Given the description of an element on the screen output the (x, y) to click on. 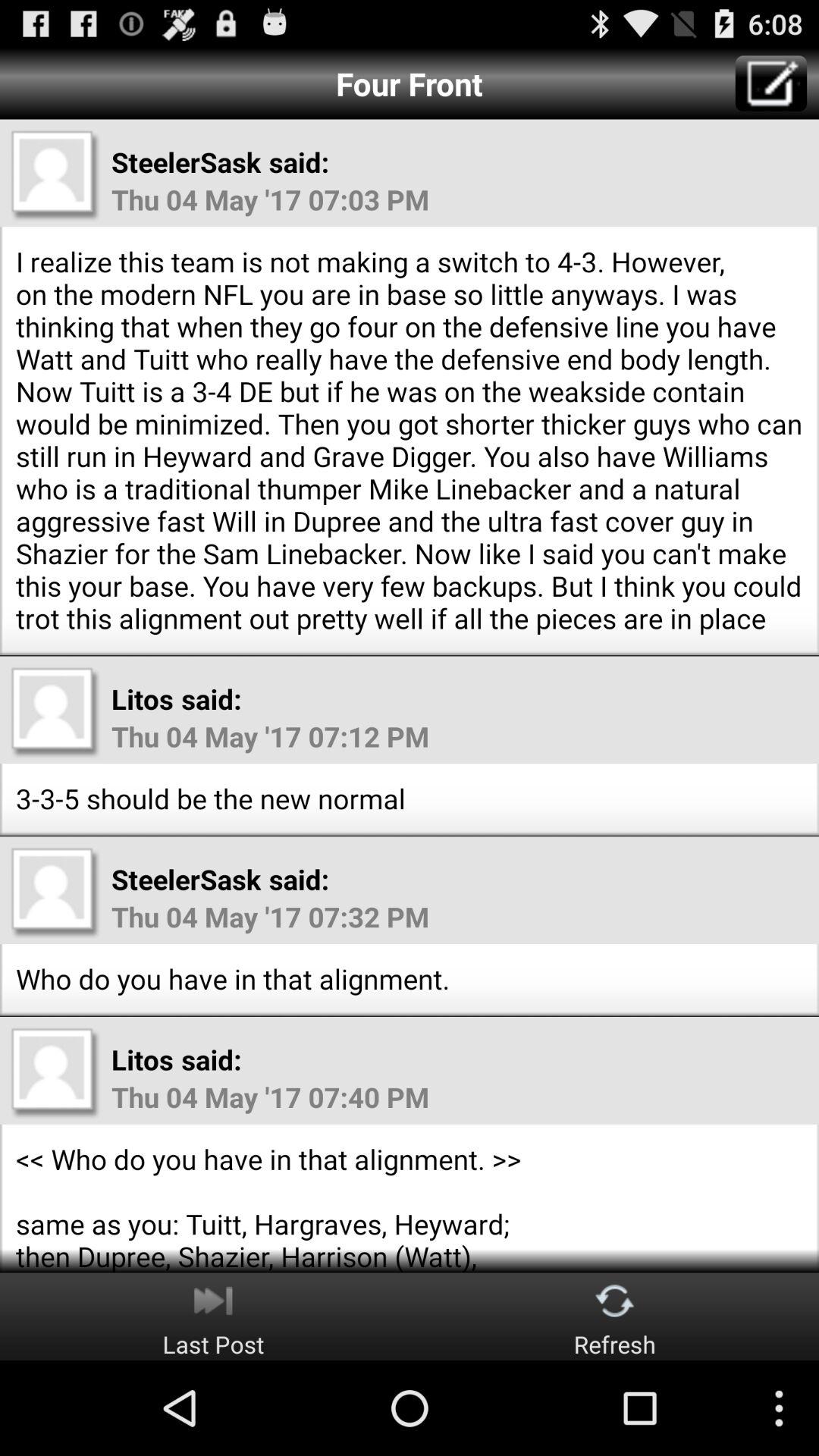
button view user profile (55, 1072)
